Given the description of an element on the screen output the (x, y) to click on. 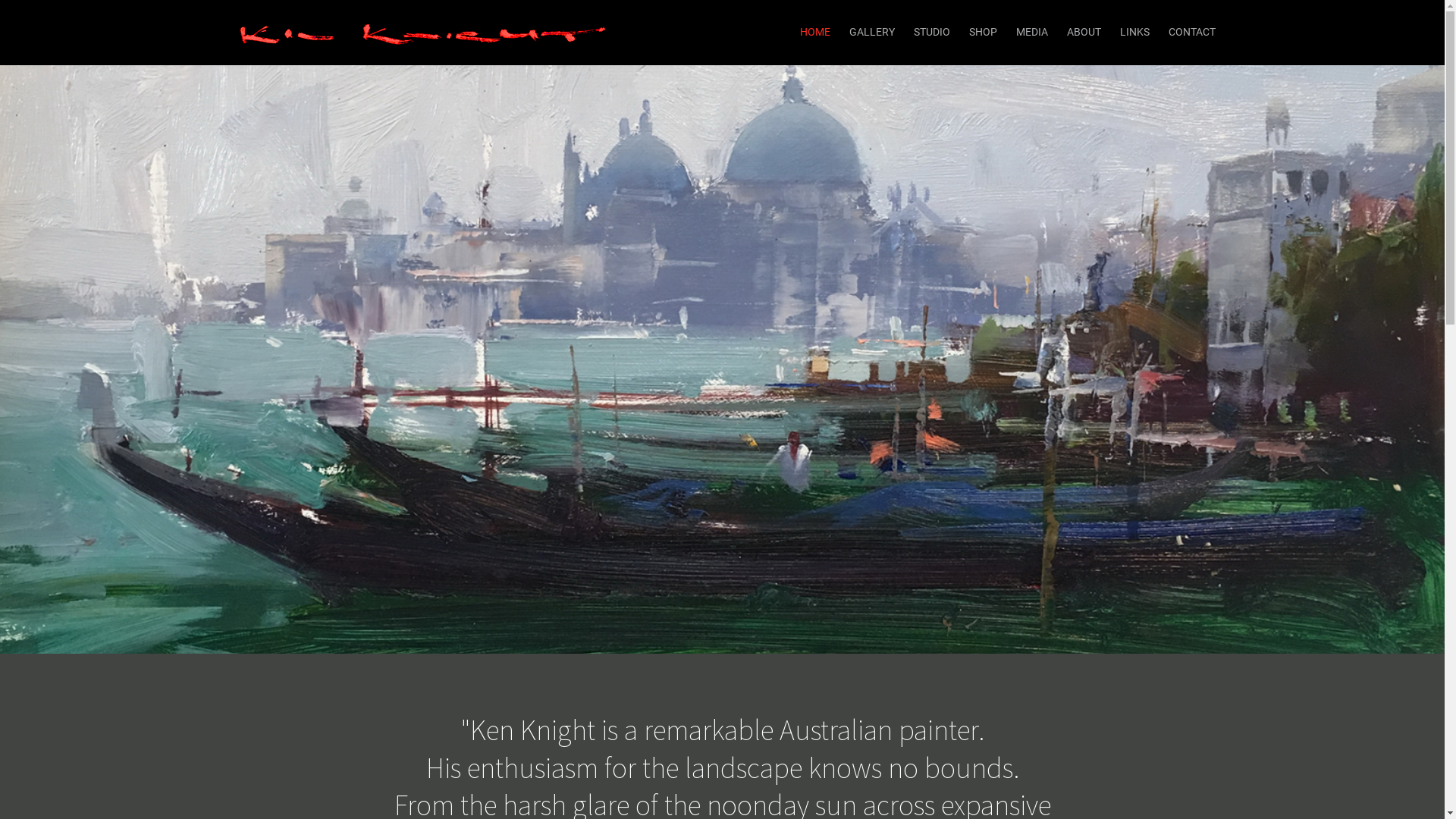
GALLERY Element type: text (871, 31)
STUDIO Element type: text (931, 31)
MEDIA Element type: text (1032, 31)
HOME Element type: text (814, 31)
SHOP Element type: text (983, 31)
LINKS Element type: text (1133, 31)
CONTACT Element type: text (1190, 31)
GALLERY Element type: text (871, 31)
LINKS Element type: text (1133, 31)
ABOUT Element type: text (1083, 31)
STUDIO Element type: text (931, 31)
MEDIA Element type: text (1032, 31)
ABOUT Element type: text (1083, 31)
CONTACT Element type: text (1190, 31)
SHOP Element type: text (983, 31)
HOME Element type: text (814, 31)
